Given the description of an element on the screen output the (x, y) to click on. 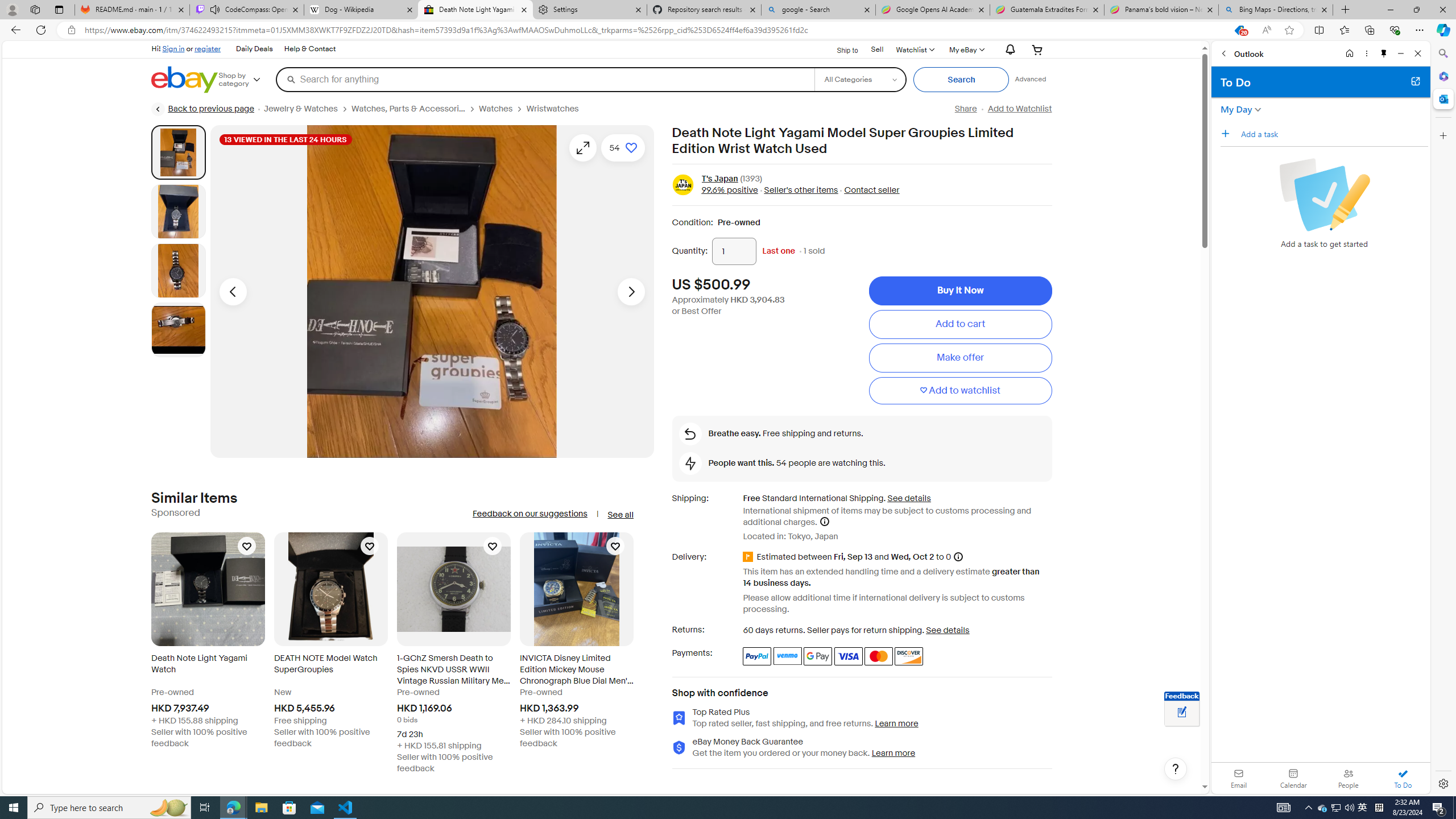
Email (1238, 777)
Delivery alert flag (749, 557)
Search for anything (544, 78)
eBay Home (184, 79)
Add to Watchlist (1019, 108)
Make offer (959, 357)
